Given the description of an element on the screen output the (x, y) to click on. 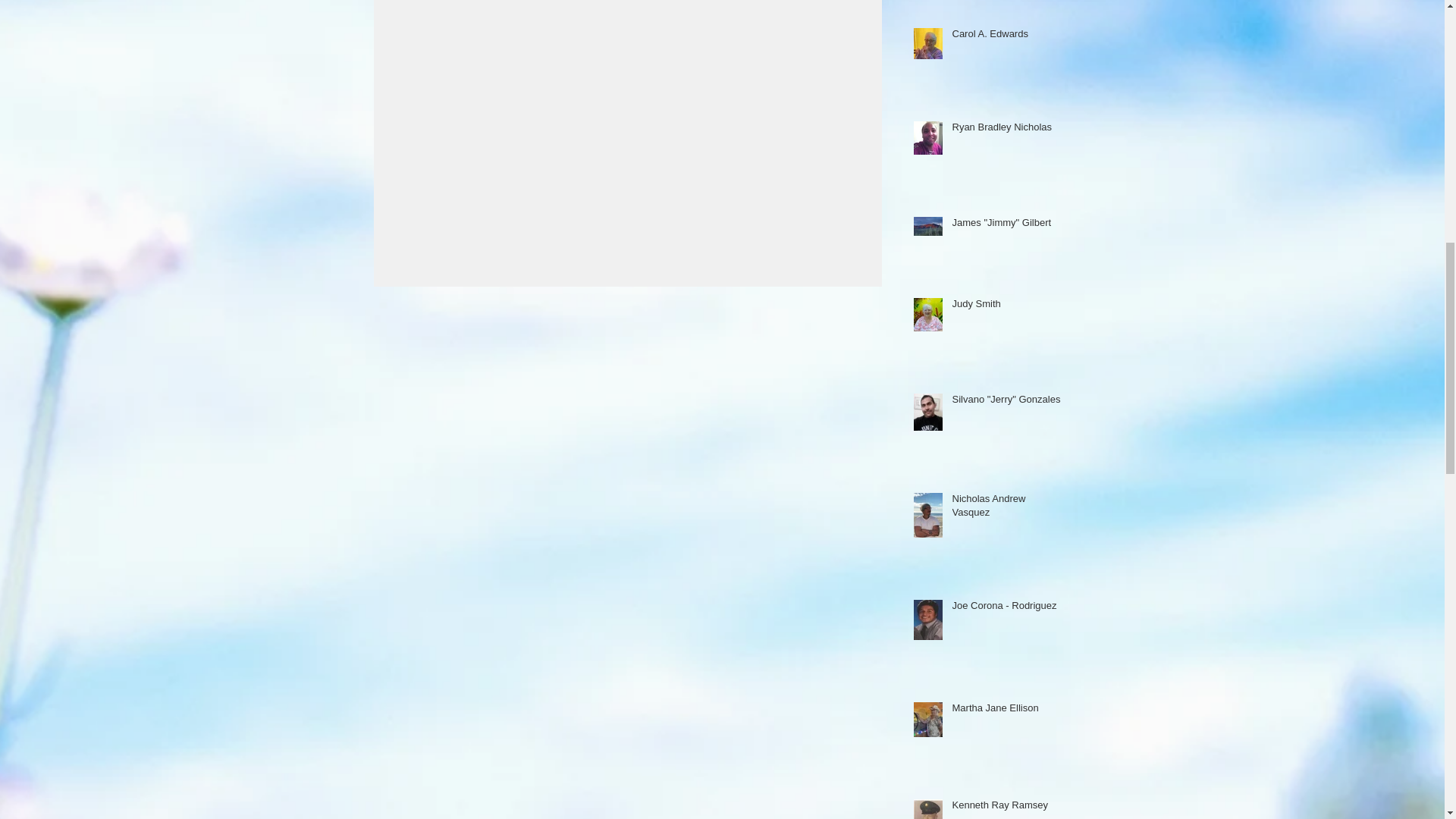
Carol A. Edwards (1006, 36)
Joe Corona - Rodriguez (1006, 608)
Martha Jane Ellison (1006, 711)
Ryan Bradley Nicholas (1006, 130)
James "Jimmy" Gilbert (1006, 225)
Kenneth Ray Ramsey (1006, 808)
Nicholas Andrew Vasquez (1006, 508)
Judy Smith (1006, 306)
Silvano "Jerry" Gonzales (1006, 402)
